Given the description of an element on the screen output the (x, y) to click on. 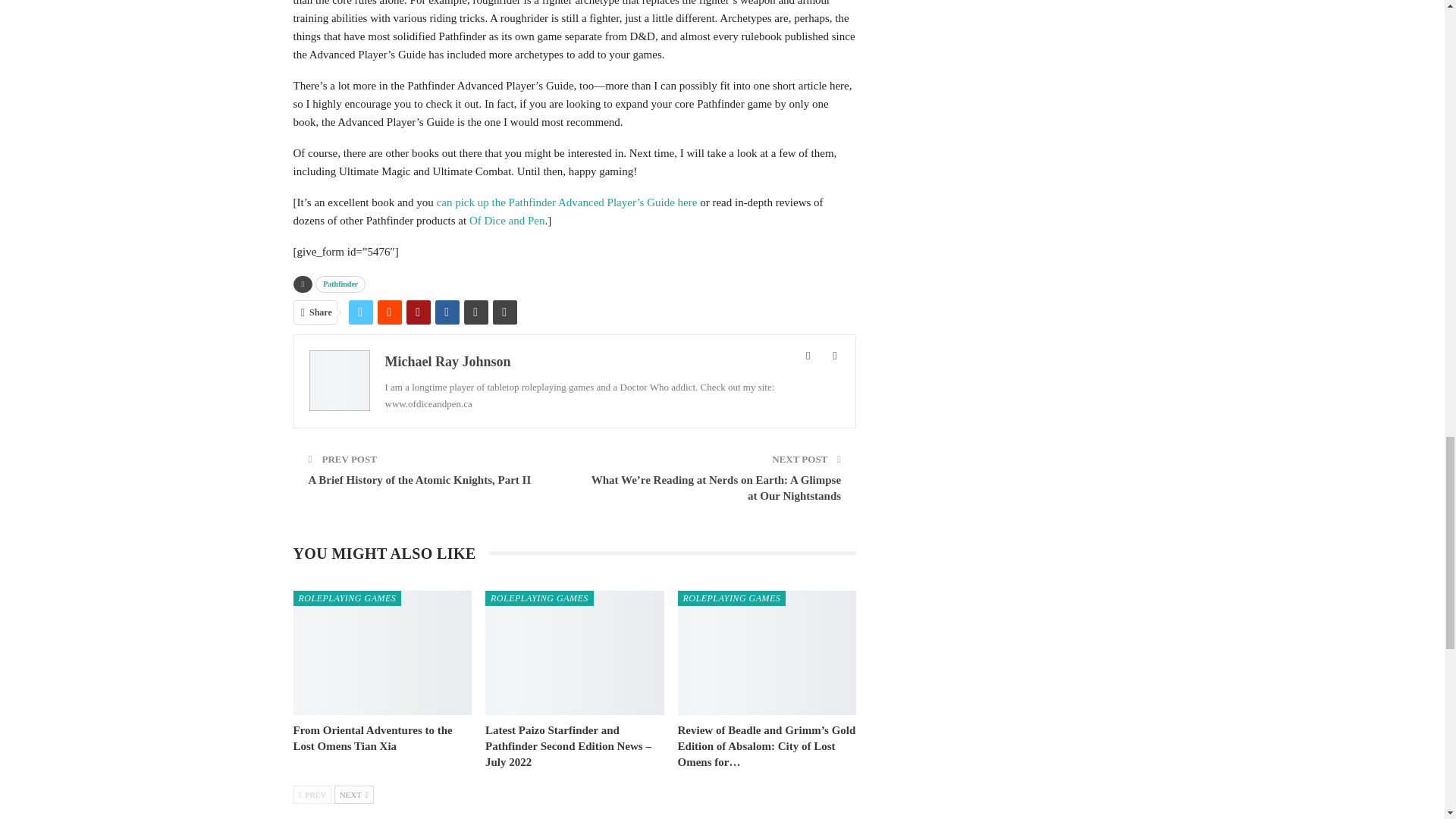
From Oriental Adventures to the Lost Omens Tian Xia (381, 652)
From Oriental Adventures to the Lost Omens Tian Xia (371, 737)
Next (354, 794)
Previous (311, 794)
